Given the description of an element on the screen output the (x, y) to click on. 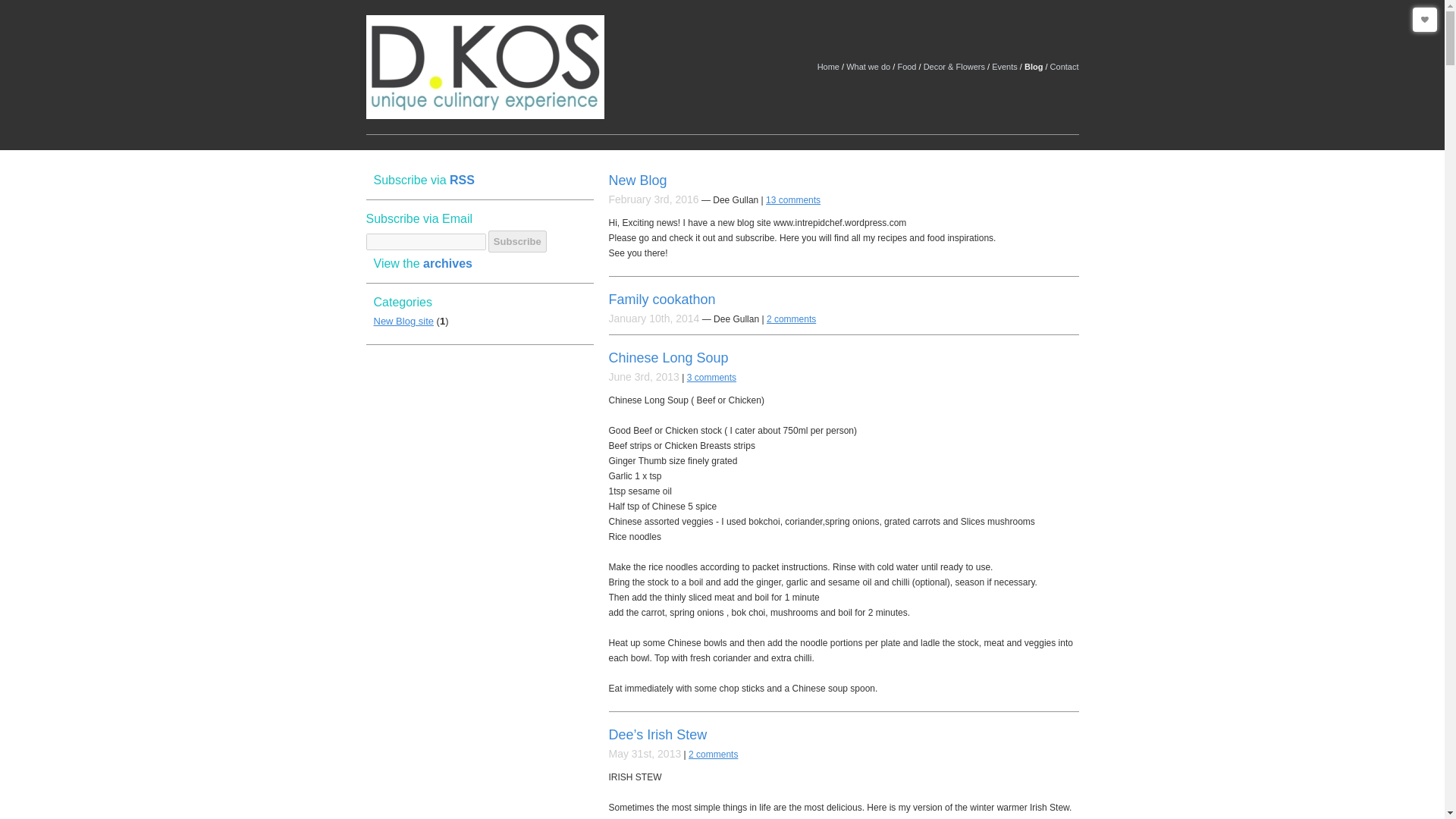
Permalink to Chinese Long Soup (668, 357)
13 comments (793, 199)
What we do (867, 66)
New Blog (637, 180)
Events (1004, 66)
Family cookathon (661, 299)
3 comments (711, 377)
Chinese Long Soup (668, 357)
Subscribe (517, 241)
Blog (1033, 66)
archives (447, 263)
2 comments (713, 754)
2 comments (791, 318)
Subscribe (517, 241)
home (484, 66)
